Given the description of an element on the screen output the (x, y) to click on. 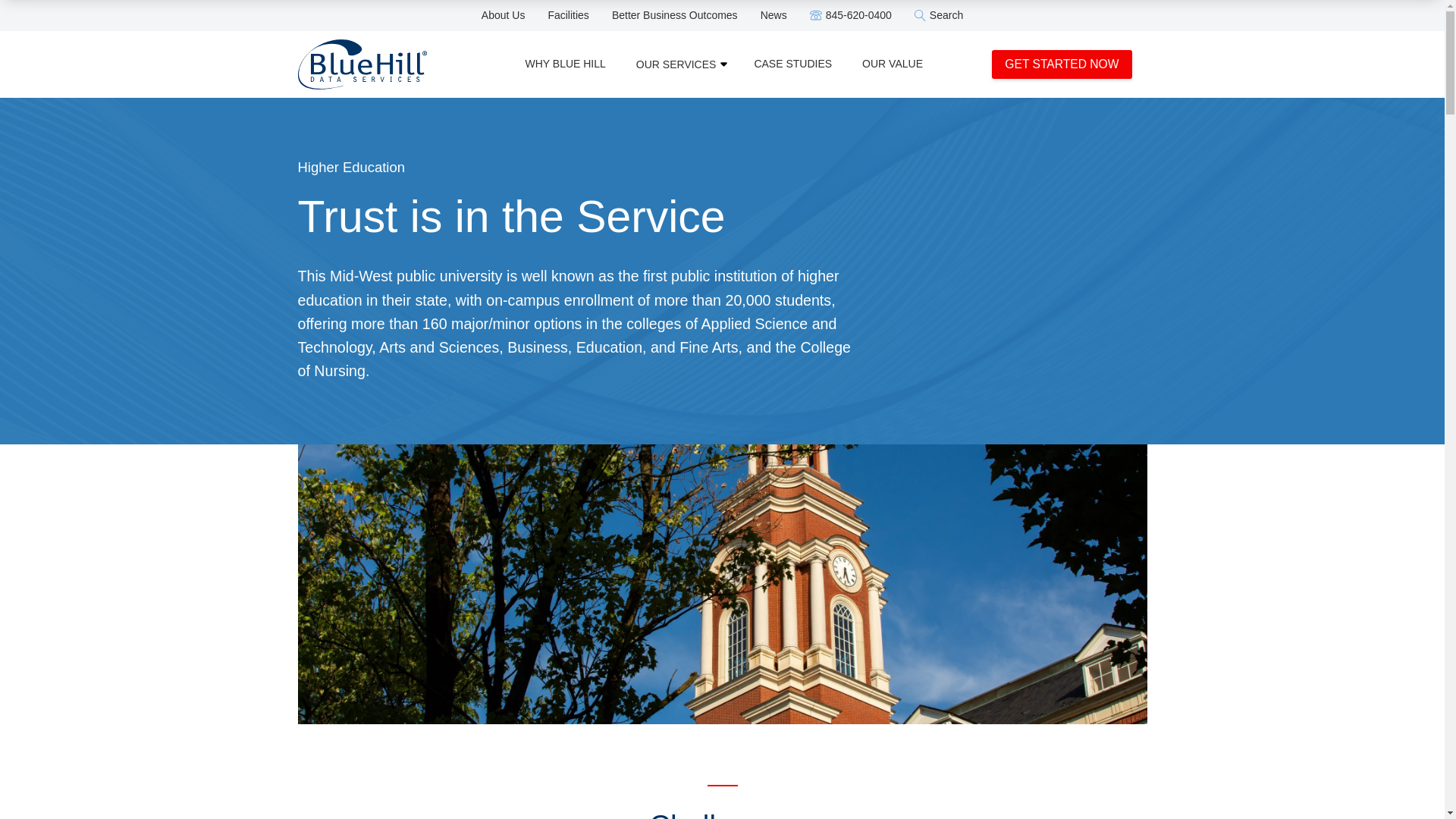
GET STARTED NOW (1061, 63)
About Us (503, 15)
Better Business Outcomes (674, 15)
CASE STUDIES (792, 64)
845-620-0400 (858, 15)
WHY BLUE HILL (564, 64)
OUR VALUE (892, 64)
Facilities (567, 15)
News (773, 15)
Search (938, 15)
